Given the description of an element on the screen output the (x, y) to click on. 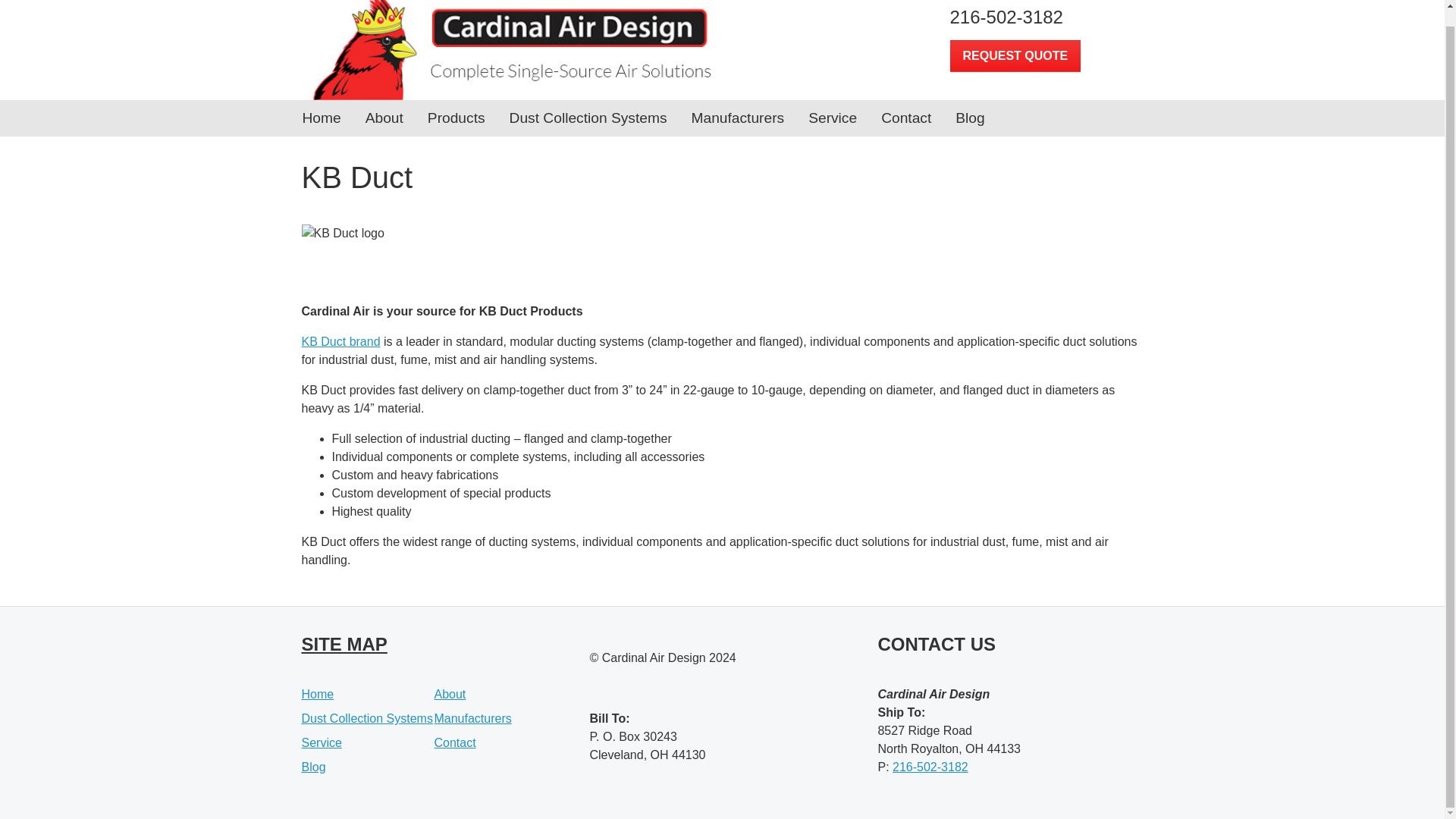
Products (456, 117)
Home (320, 117)
Home (317, 694)
About (449, 694)
Contact (905, 117)
Cardinal Air - Complete Single-Source Air Solutions (506, 49)
KB Duct brand (340, 341)
216-502-3182 (1045, 17)
SITE MAP (344, 643)
Manufacturers (737, 117)
About (384, 117)
Dust Collection Systems (587, 117)
REQUEST QUOTE (1014, 56)
Service (832, 117)
